Given the description of an element on the screen output the (x, y) to click on. 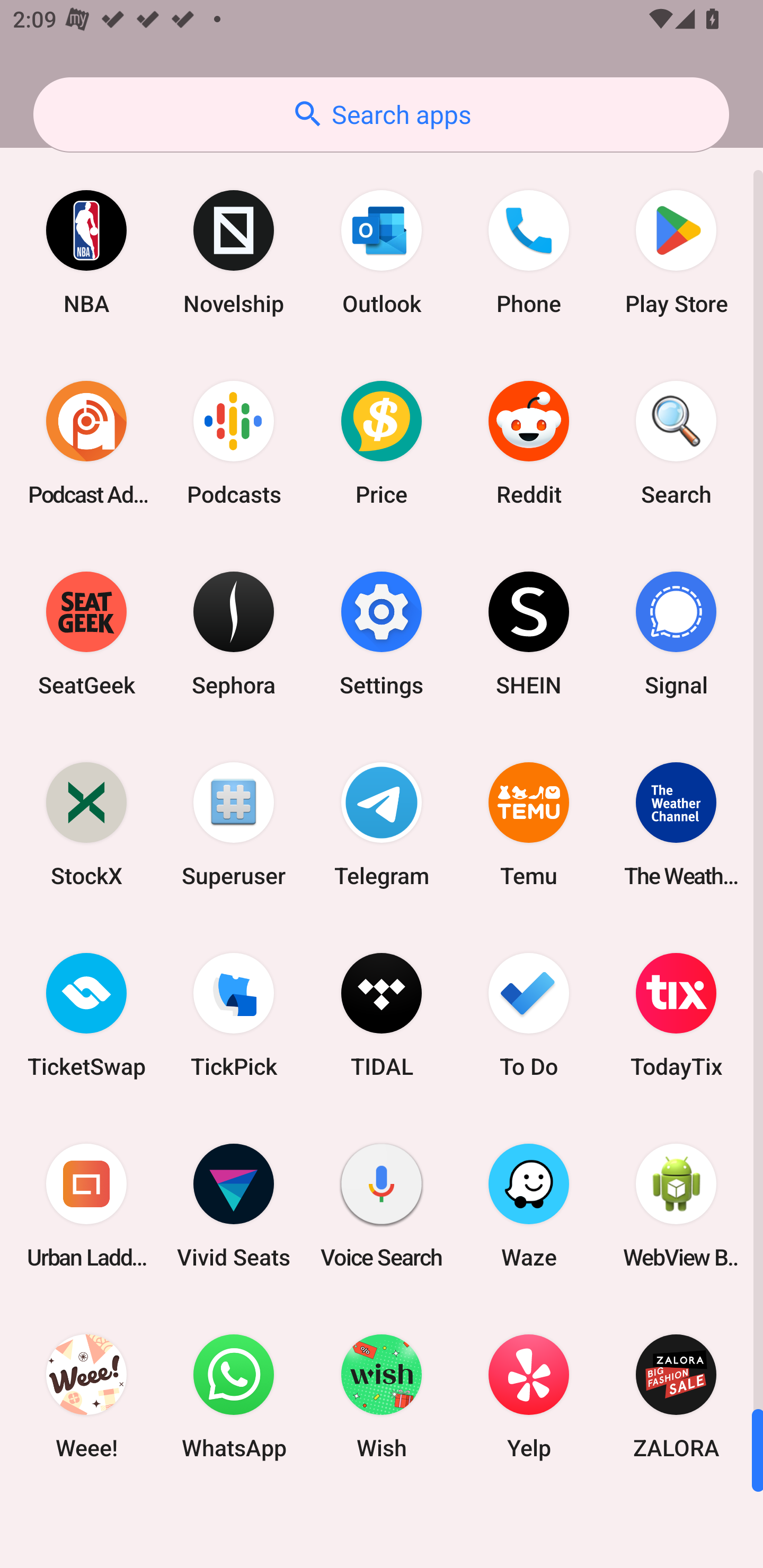
Signal (676, 633)
